Given the description of an element on the screen output the (x, y) to click on. 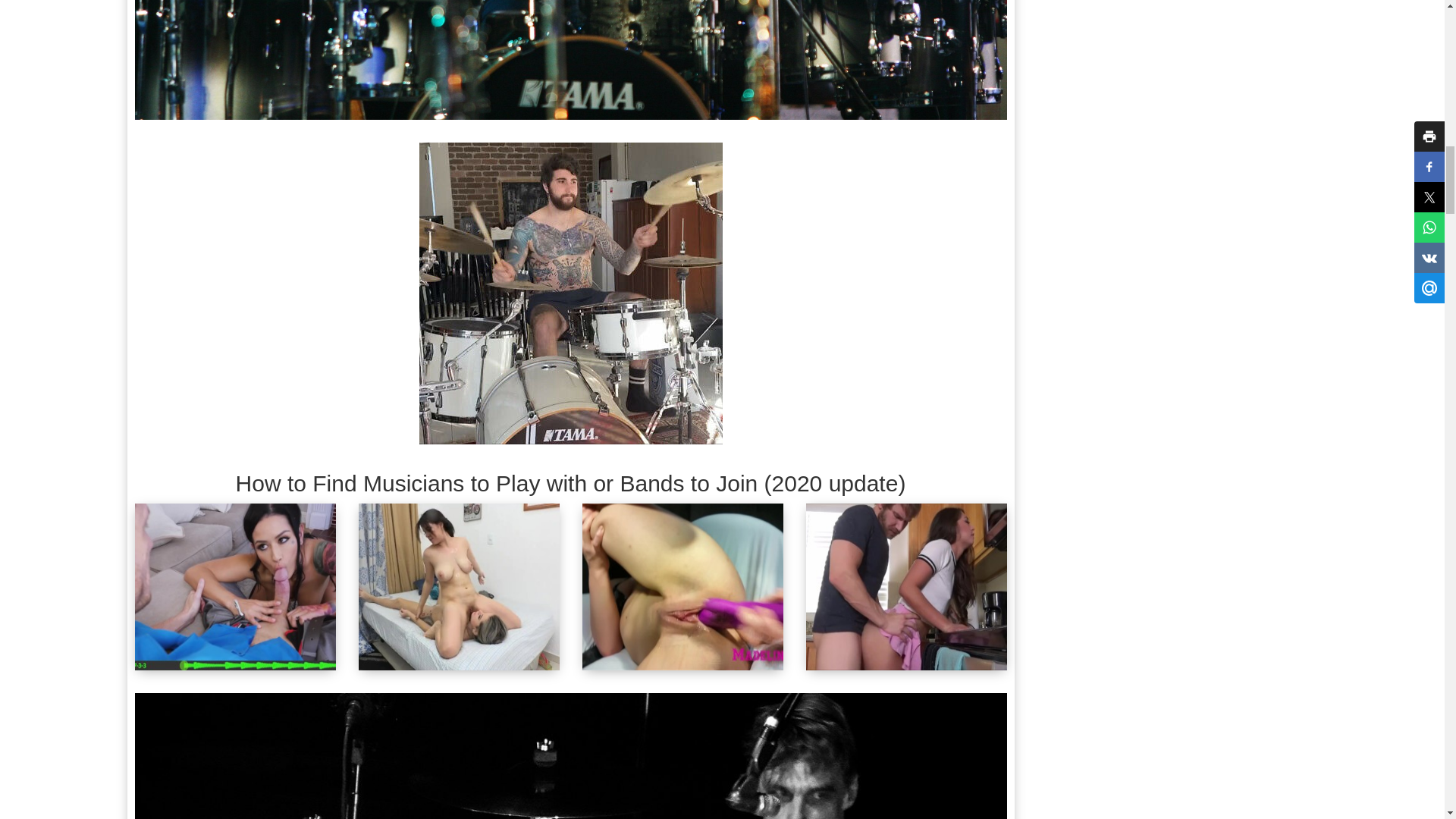
Night invasion voyeur video (571, 755)
Hot curvey busty girls bare tits (571, 59)
Nude fit hot snatch (570, 293)
